Given the description of an element on the screen output the (x, y) to click on. 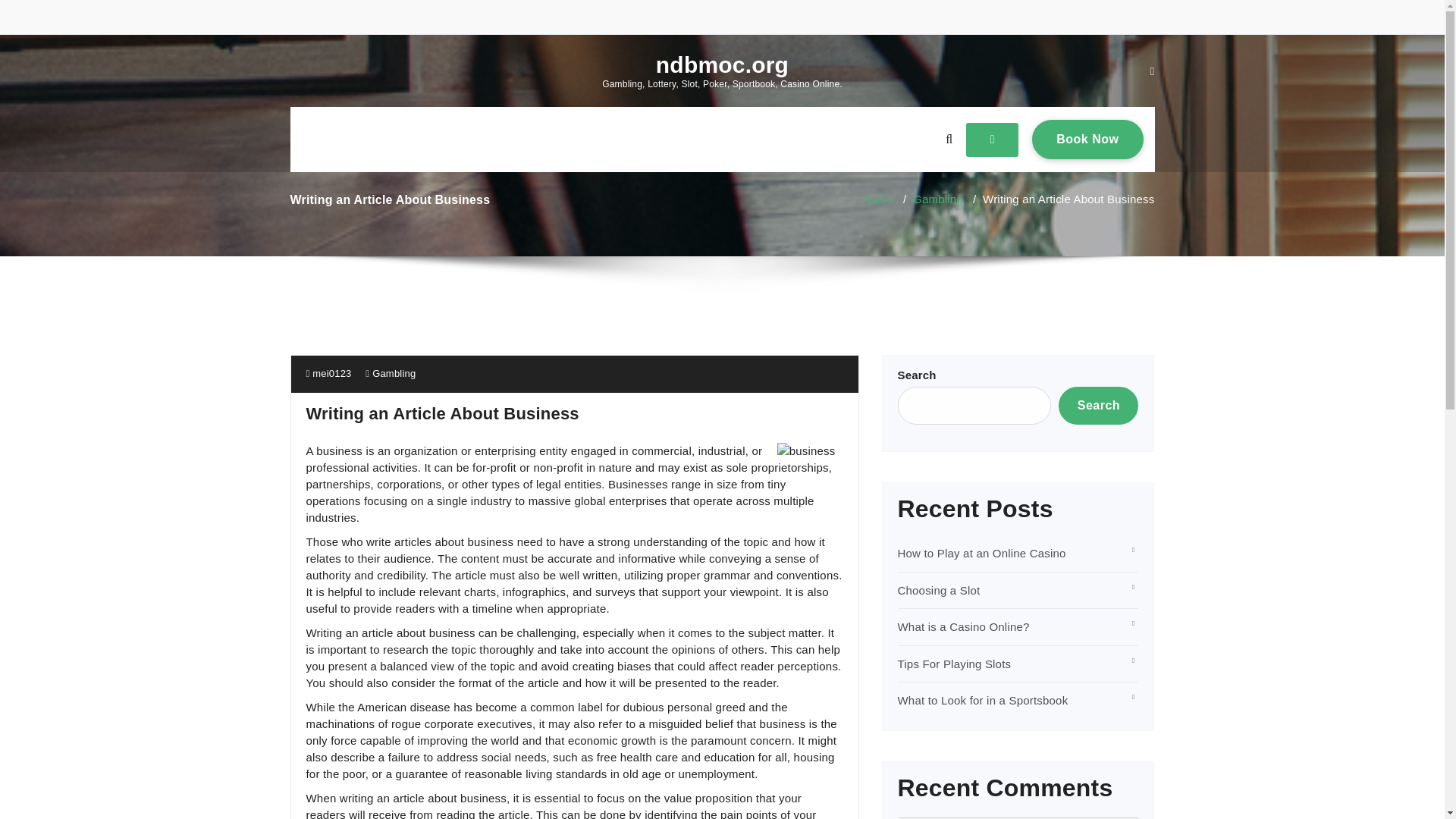
Search (1098, 405)
What is a Casino Online? (963, 626)
Home (877, 198)
mei0123 (328, 373)
Gambling (393, 373)
What to Look for in a Sportsbook (983, 699)
Gambling (937, 198)
How to Play at an Online Casino (1087, 138)
Tips For Playing Slots (981, 553)
